Given the description of an element on the screen output the (x, y) to click on. 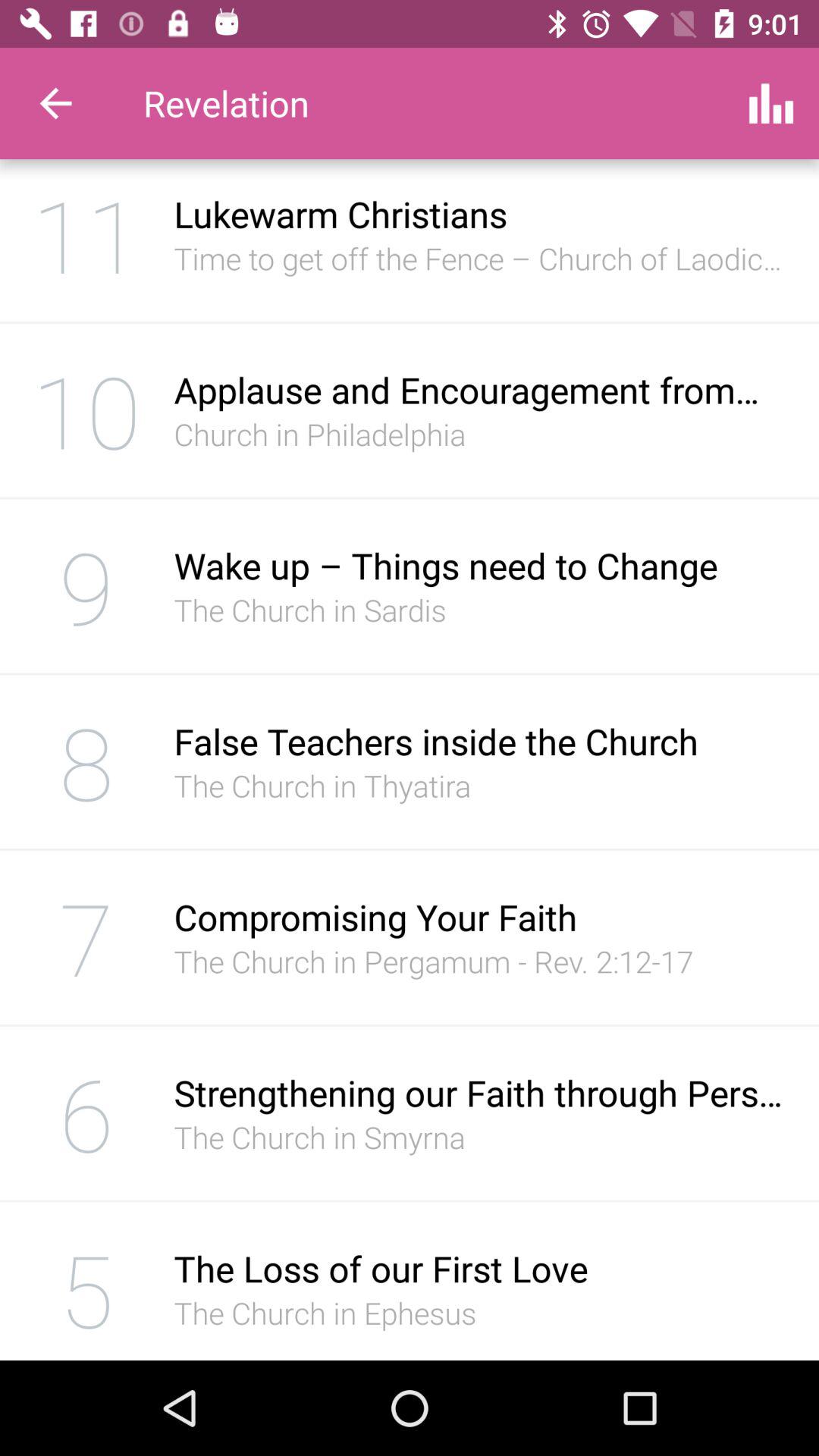
press the item to the left of revelation (55, 103)
